Given the description of an element on the screen output the (x, y) to click on. 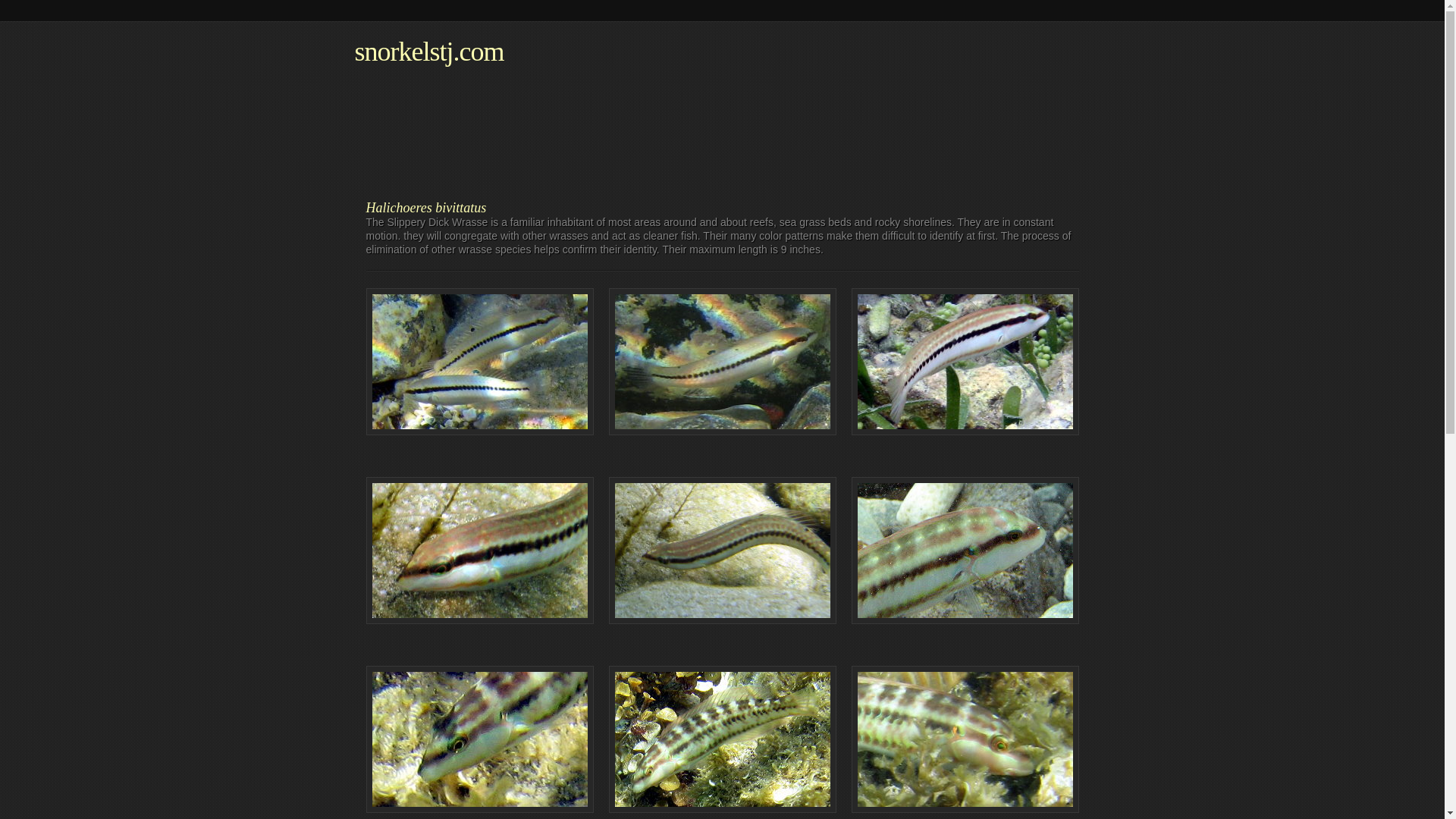
snorkelstj.com (429, 51)
